Given the description of an element on the screen output the (x, y) to click on. 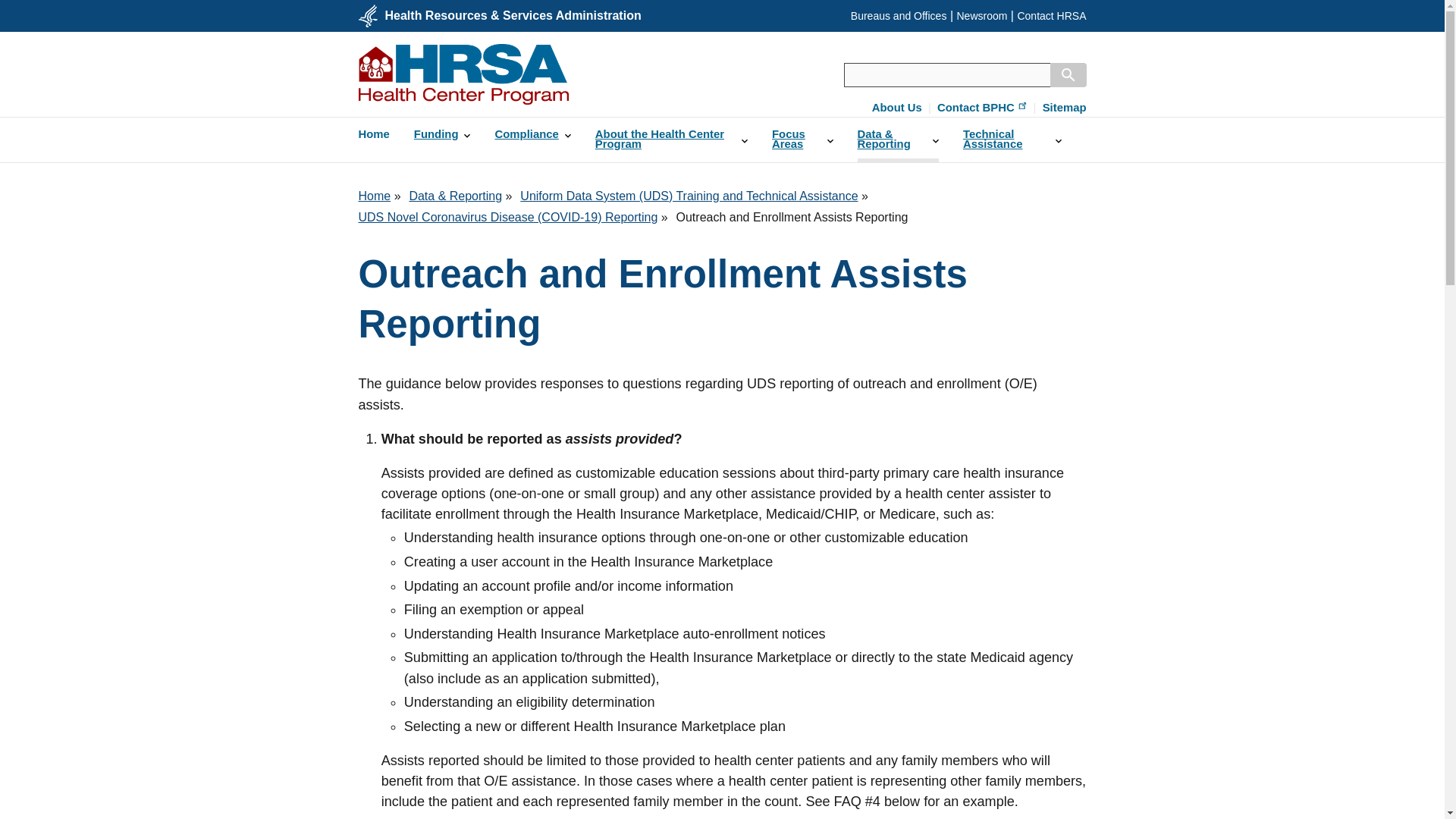
Enter the terms you wish to search for. (946, 74)
Compliance (531, 134)
About the Health Center Program (671, 139)
Newsroom (981, 15)
Technical Assistance (1012, 139)
Bureaus and Offices (898, 15)
Sitemap (1064, 108)
Home (373, 134)
HRSA Bureau of Primary Health Care Home (462, 74)
